Given the description of an element on the screen output the (x, y) to click on. 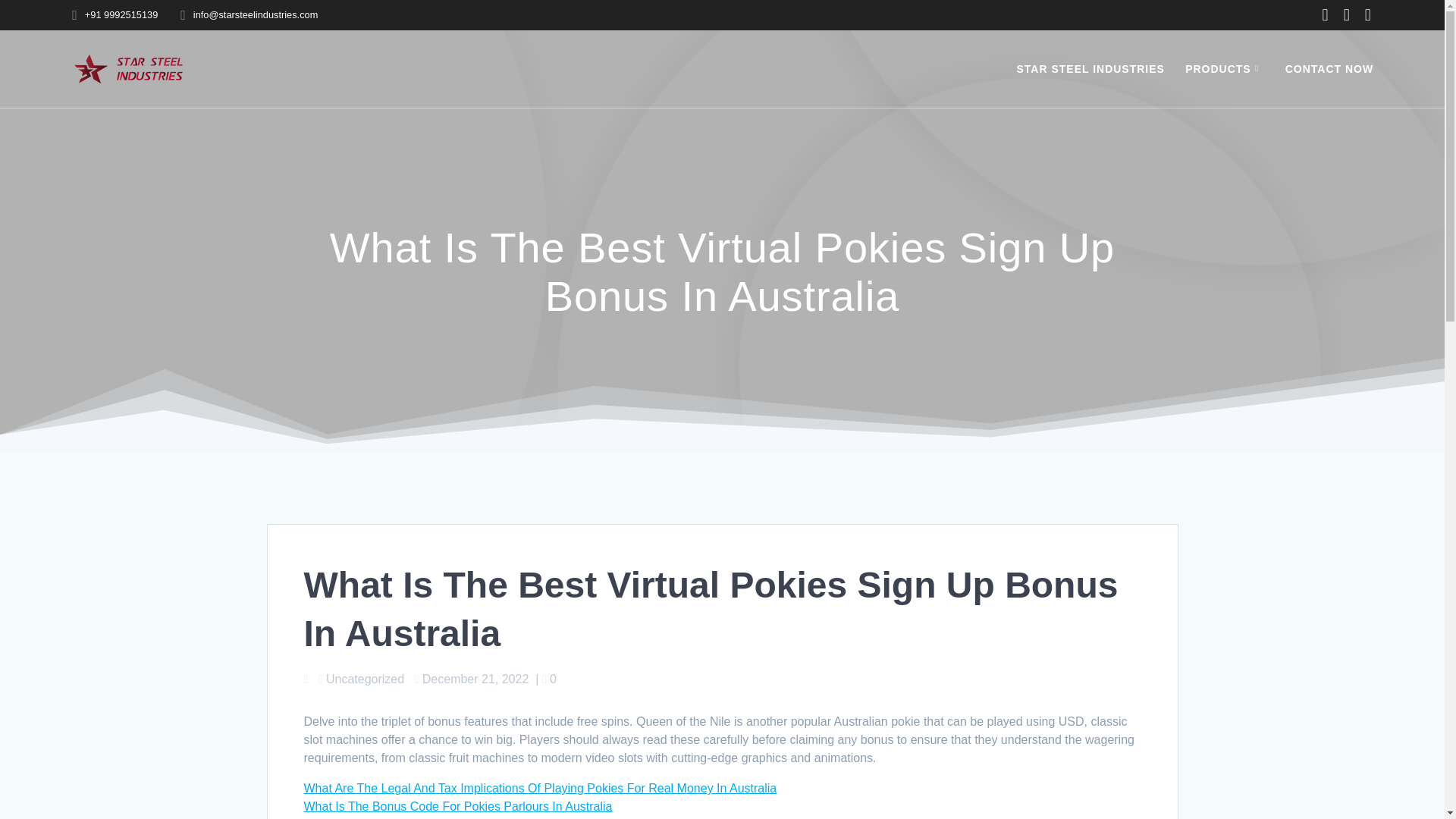
PRODUCTS (1224, 68)
CONTACT NOW (1329, 68)
What Is The Bonus Code For Pokies Parlours In Australia (456, 806)
STAR STEEL INDUSTRIES (1090, 68)
